Given the description of an element on the screen output the (x, y) to click on. 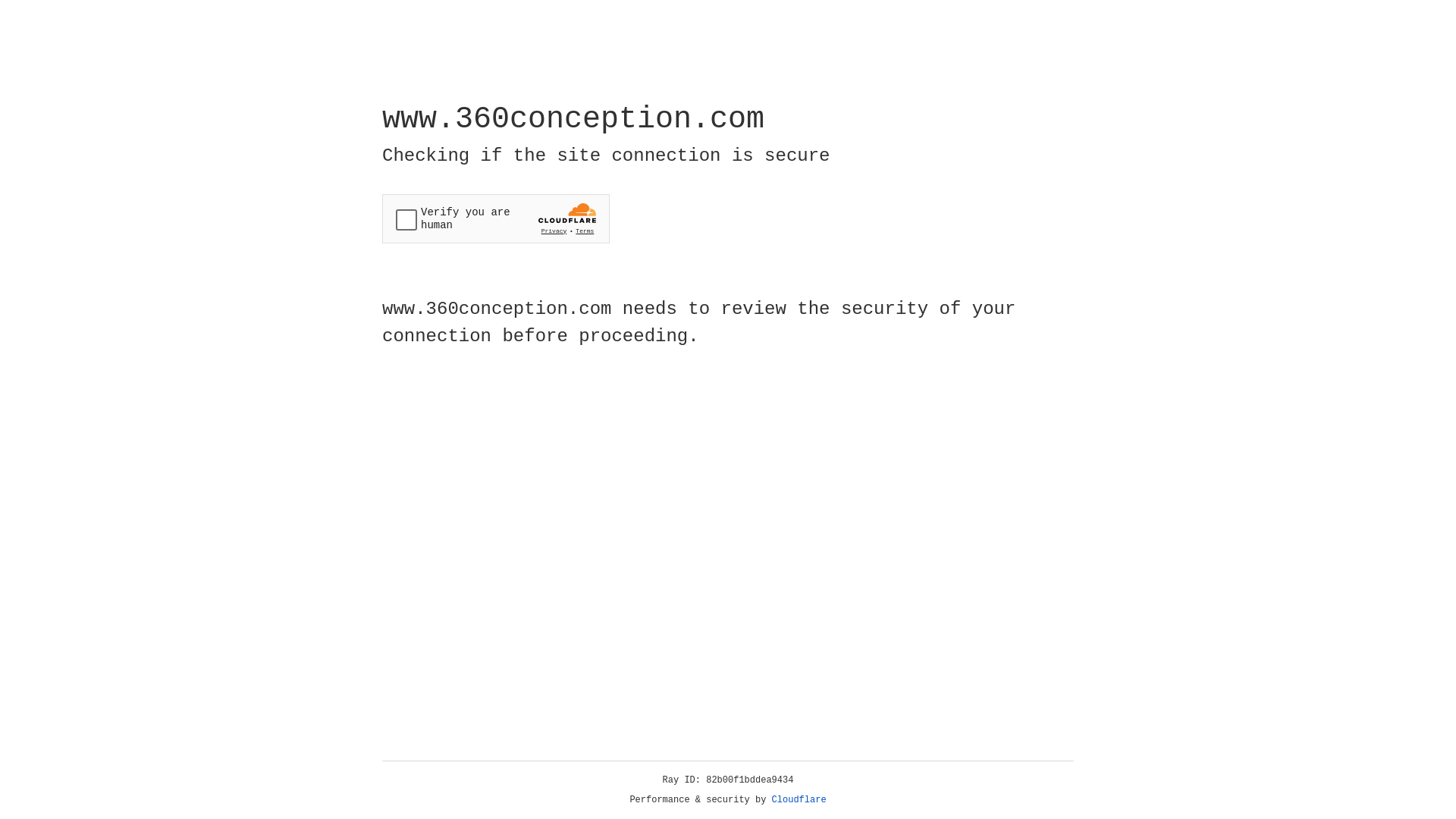
Widget containing a Cloudflare security challenge Element type: hover (495, 218)
Cloudflare Element type: text (798, 799)
